Given the description of an element on the screen output the (x, y) to click on. 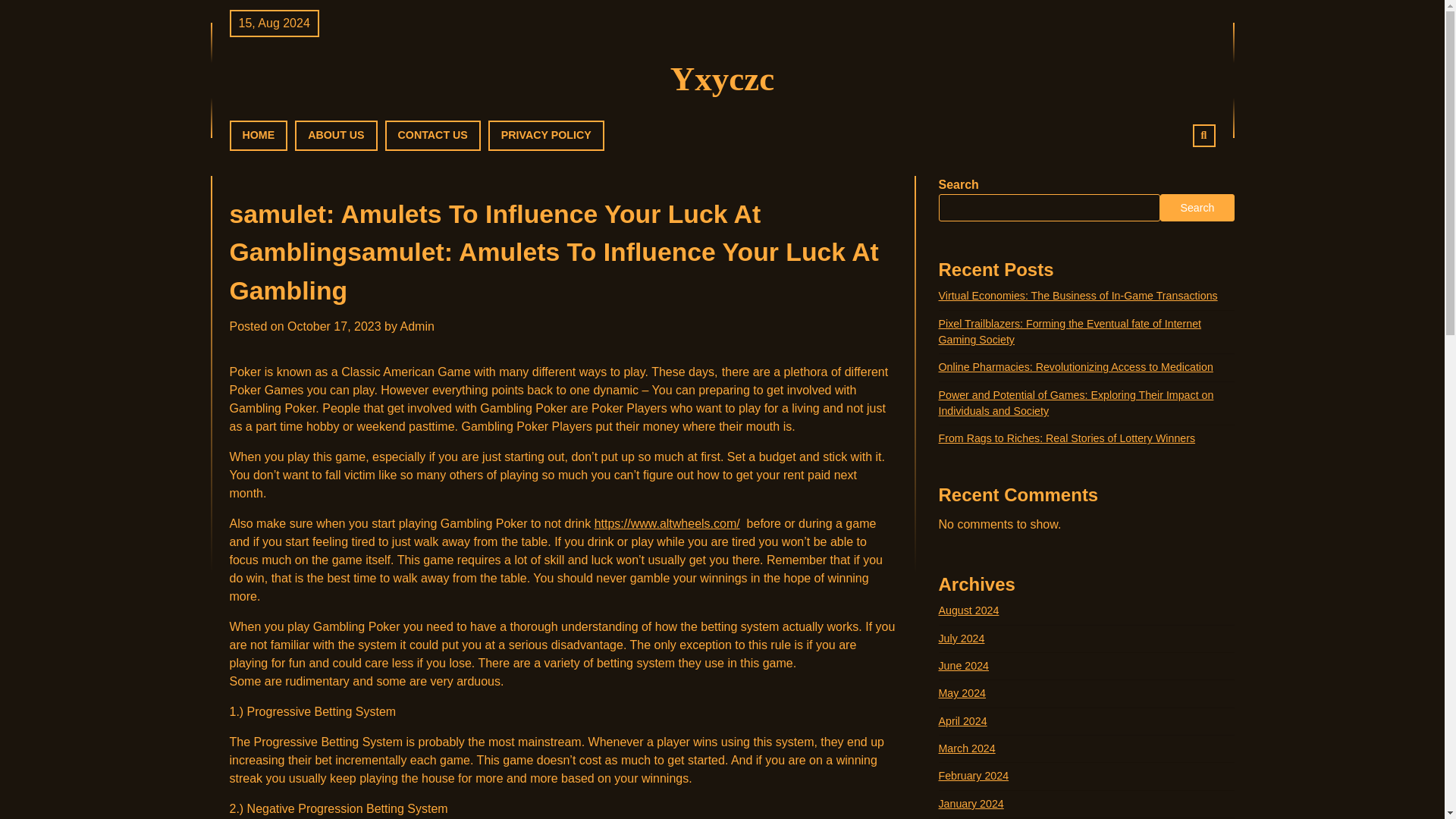
April 2024 (963, 720)
May 2024 (963, 693)
August 2024 (968, 610)
June 2024 (964, 665)
Admin (416, 326)
PRIVACY POLICY (545, 134)
October 17, 2023 (333, 326)
February 2024 (974, 775)
Yxyczc (721, 78)
